Given the description of an element on the screen output the (x, y) to click on. 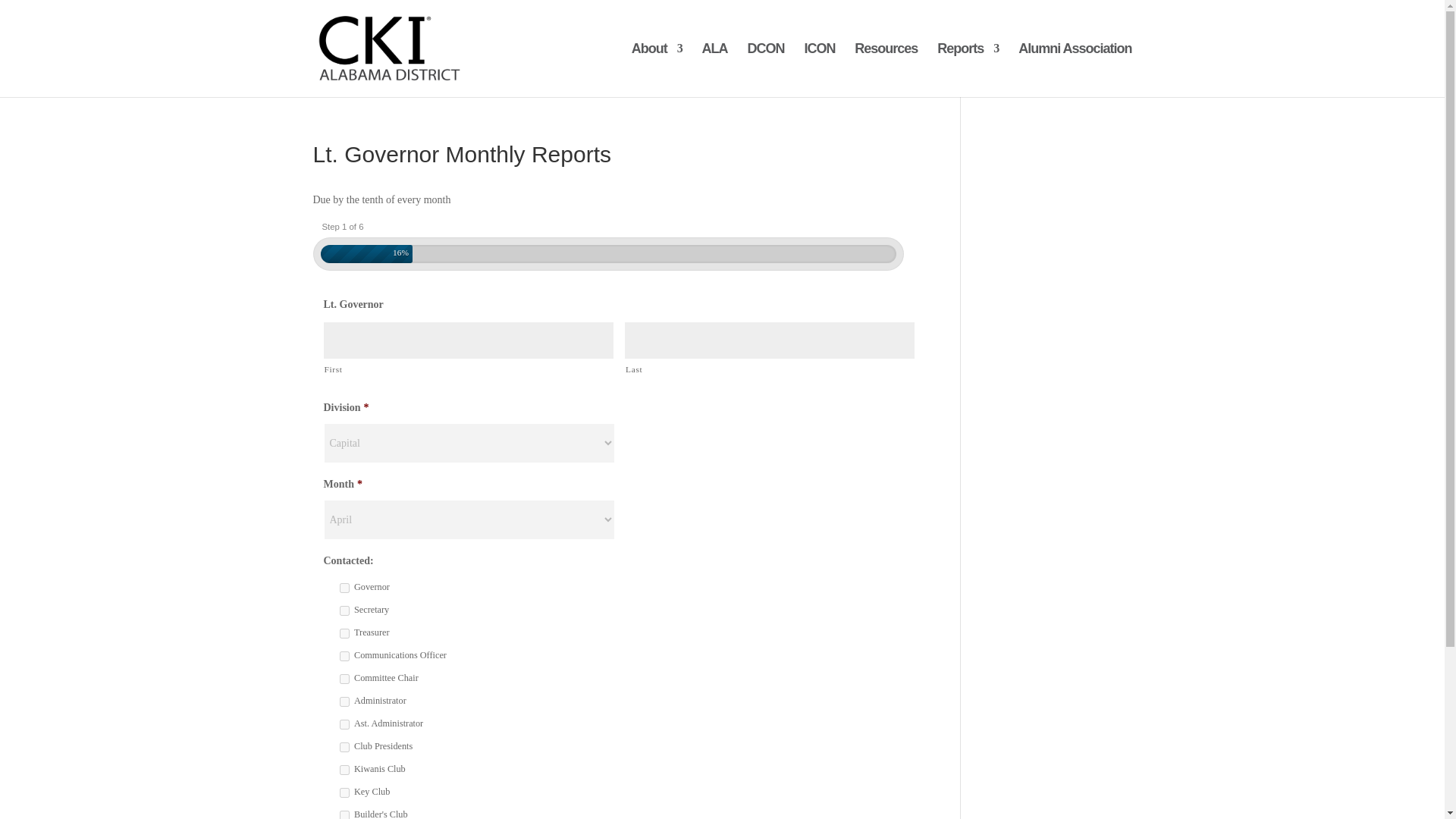
Reports (967, 70)
Builder's Club (344, 814)
Kiwanis Club (344, 769)
Committee Chair (344, 678)
Alumni Association (1074, 70)
Key Club (344, 792)
Secretary (344, 610)
Governor (344, 587)
Communications Officer (344, 655)
About (656, 70)
